Given the description of an element on the screen output the (x, y) to click on. 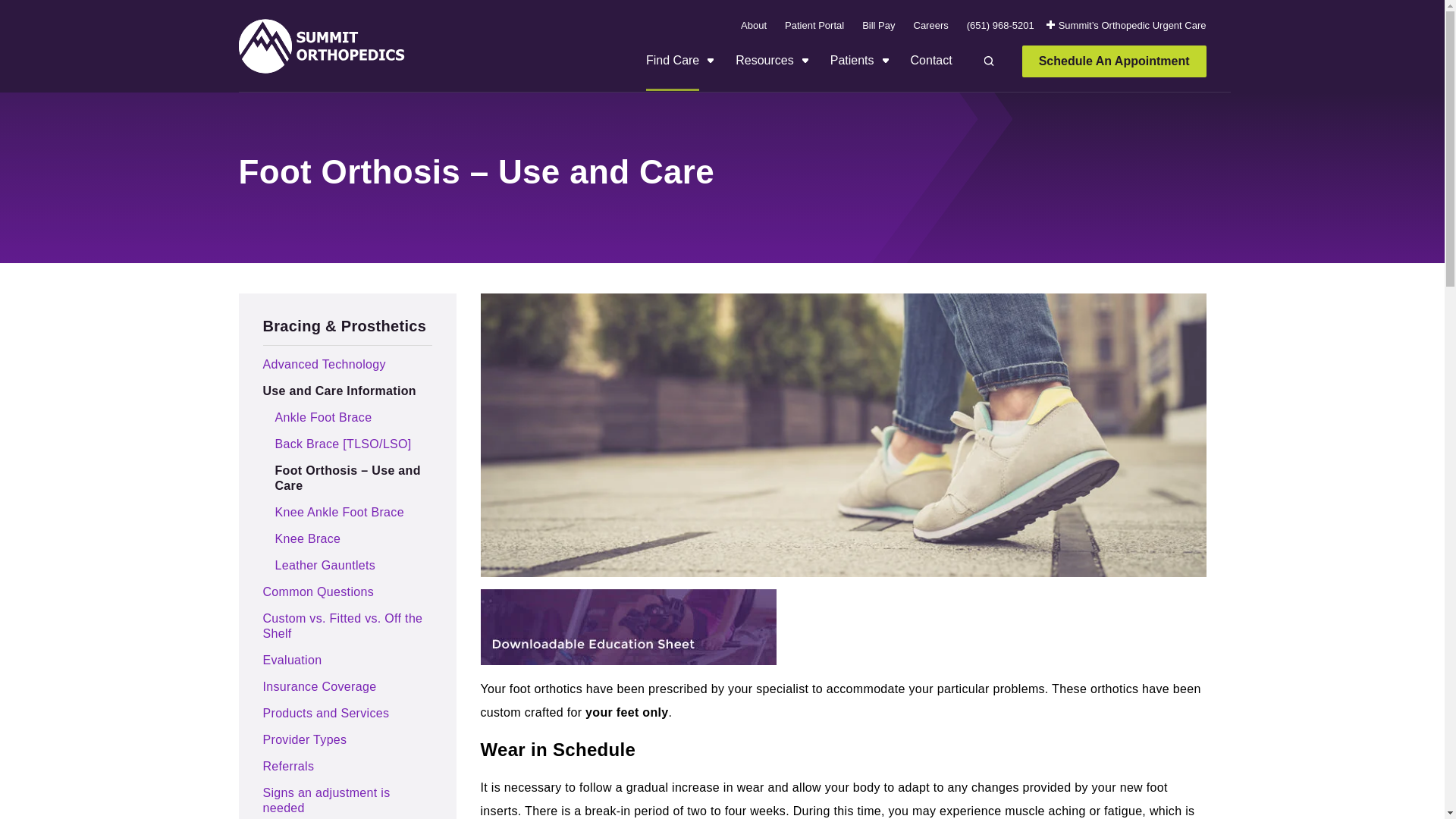
Careers (929, 24)
Show submenu for Find Care (709, 60)
Show submenu for Resources (804, 60)
Summit Orthopedics (320, 45)
Bill Pay (878, 24)
Patient Portal (814, 24)
Resources (763, 72)
Summit Orthopedics (320, 45)
Show submenu for Patients (884, 60)
Find Care (672, 72)
